Given the description of an element on the screen output the (x, y) to click on. 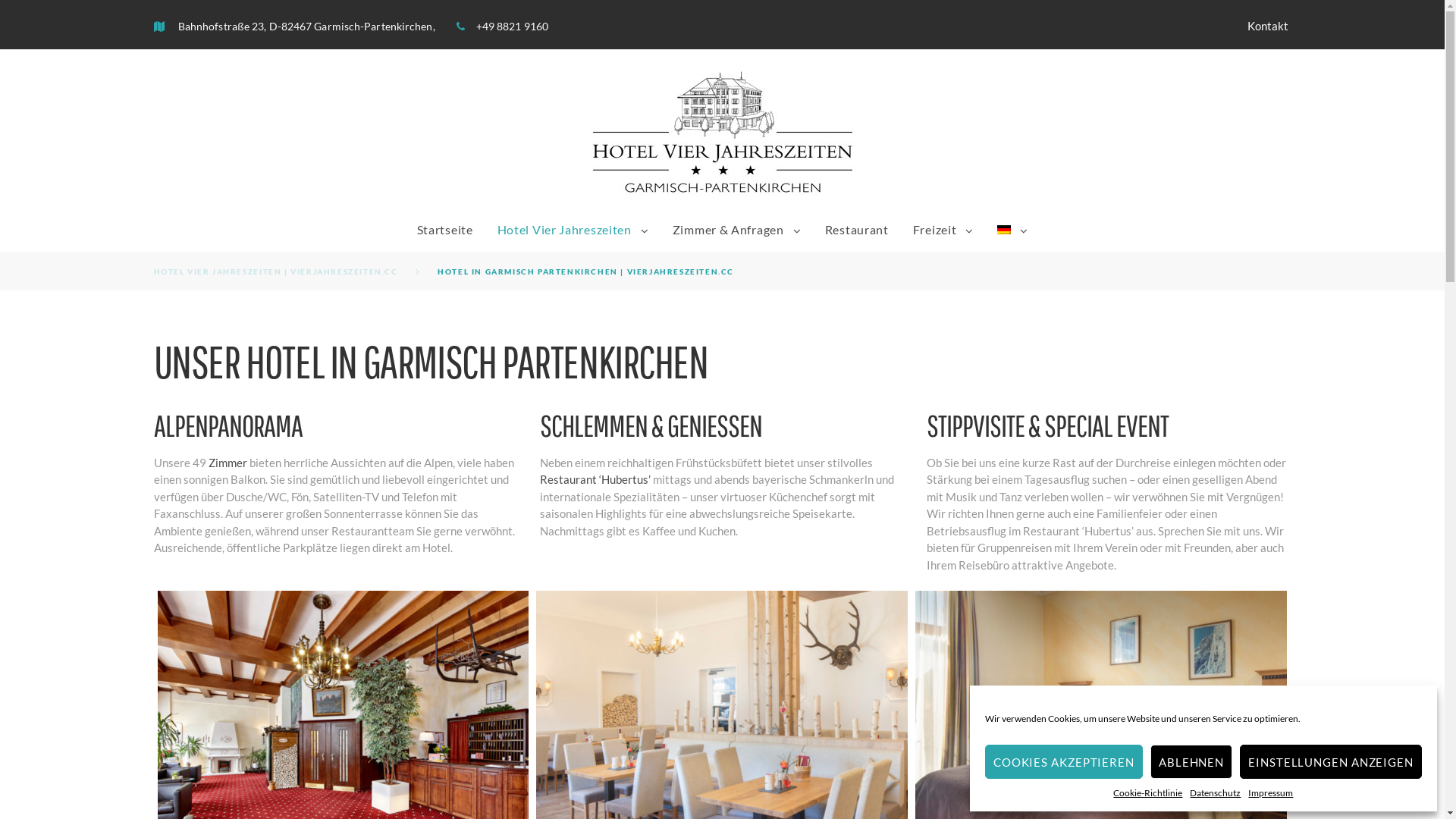
Restaurant Element type: text (856, 228)
Datenschutz Element type: text (1214, 793)
Zimmer Element type: text (226, 462)
Kontakt Element type: text (1267, 25)
Freizeit Element type: text (935, 228)
+49 8821 9160 Element type: text (512, 25)
Zimmer & Anfragen Element type: text (728, 228)
HOTEL VIER JAHRESZEITEN | VIERJAHRESZEITEN.CC Element type: text (275, 271)
COOKIES AKZEPTIEREN Element type: text (1063, 761)
Impressum Element type: text (1270, 793)
Hotel Vier Jahreszeiten Element type: text (564, 228)
Cookie-Richtlinie Element type: text (1147, 793)
Startseite Element type: text (445, 228)
ABLEHNEN Element type: text (1191, 761)
EINSTELLUNGEN ANZEIGEN Element type: text (1330, 761)
